Given the description of an element on the screen output the (x, y) to click on. 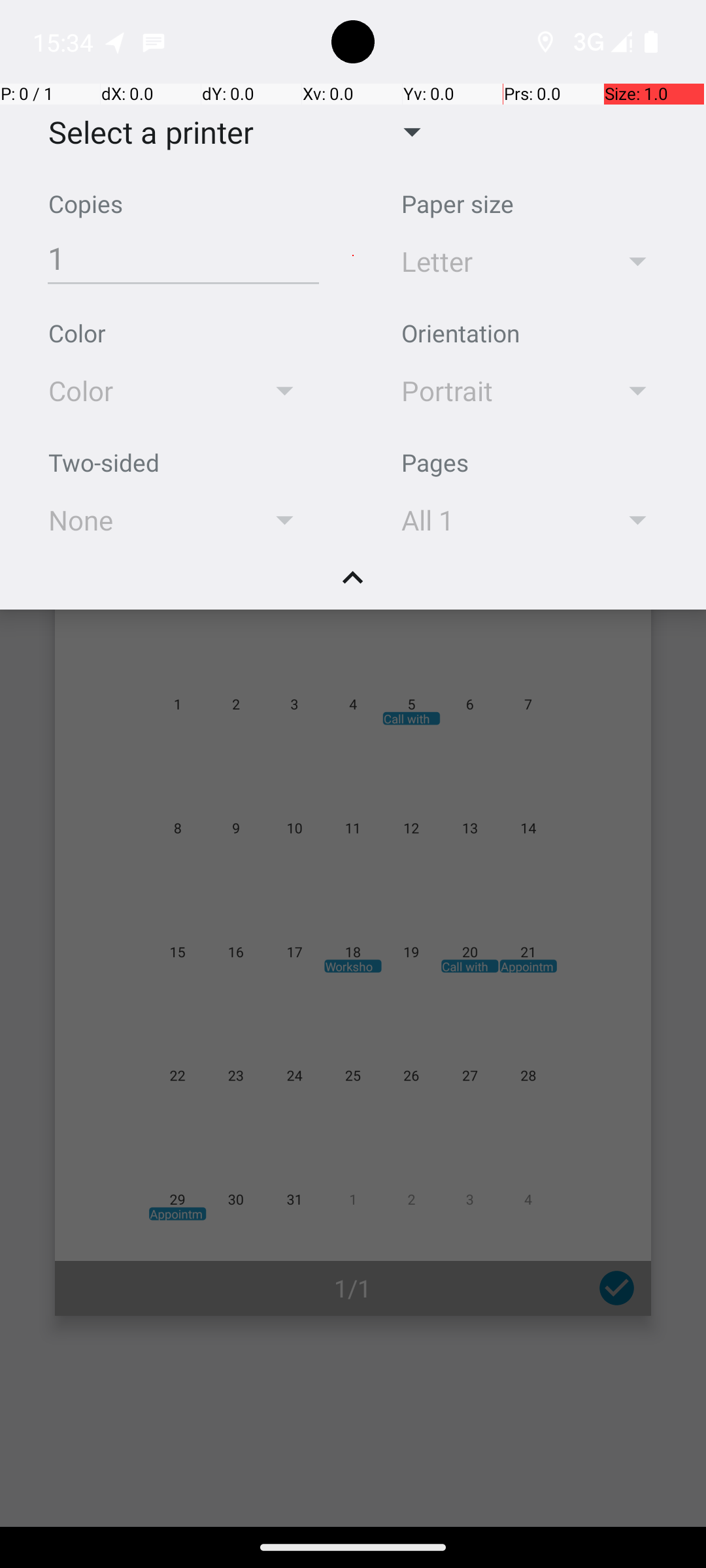
Copies Element type: android.widget.TextView (85, 203)
Paper size Element type: android.widget.TextView (457, 203)
Orientation Element type: android.widget.TextView (460, 332)
Two-sided Element type: android.widget.TextView (103, 461)
Pages Element type: android.widget.TextView (434, 461)
Collapse handle Element type: android.widget.FrameLayout (353, 585)
Select a printer Element type: android.widget.TextView (140, 131)
Letter Element type: android.widget.CheckedTextView (491, 261)
Portrait Element type: android.widget.CheckedTextView (491, 390)
All 1 Element type: android.widget.CheckedTextView (491, 519)
Page 1 of 1 Element type: android.widget.CompoundButton (352, 902)
1/1 Element type: android.widget.TextView (352, 1287)
